Given the description of an element on the screen output the (x, y) to click on. 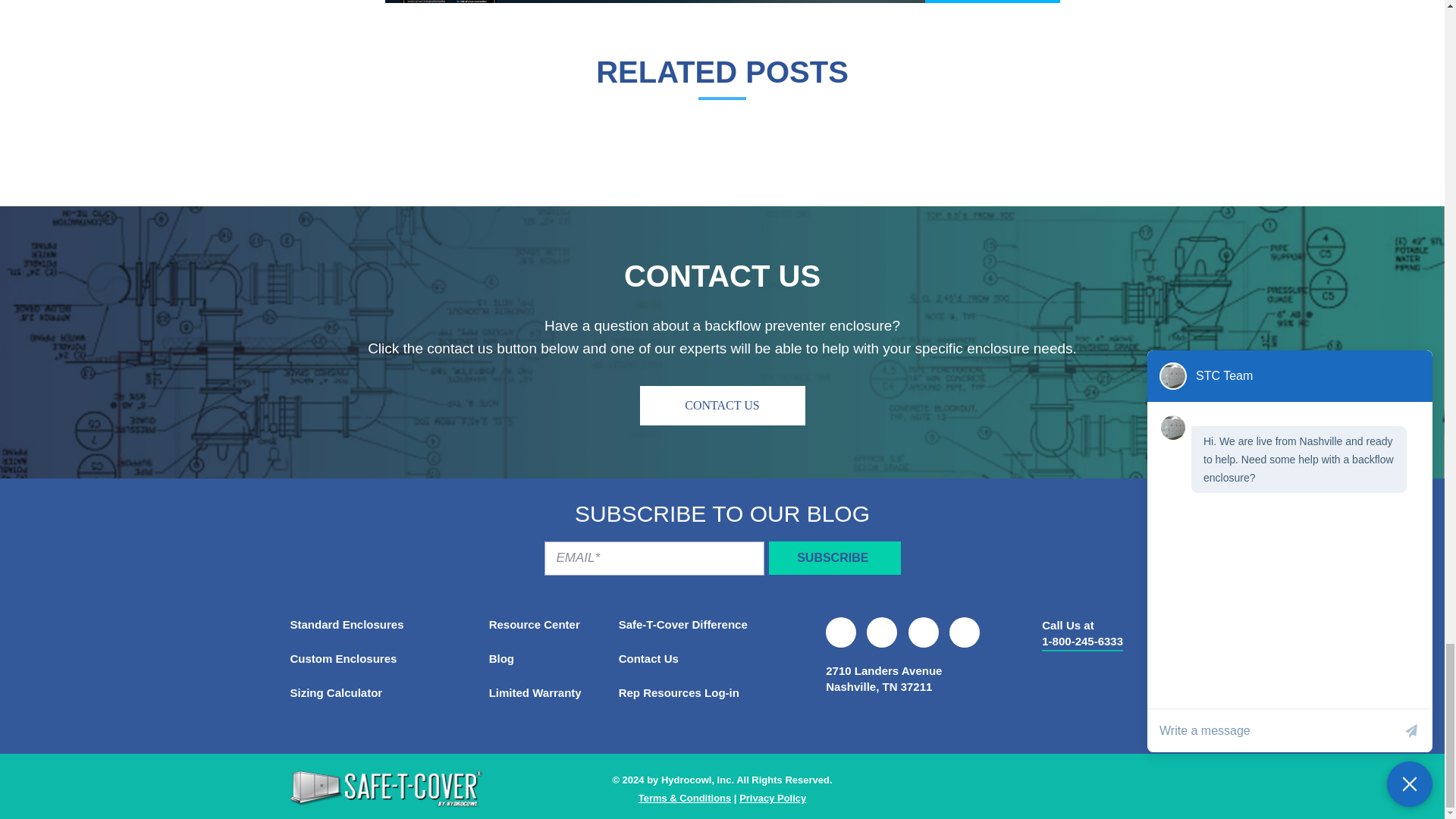
safe-t-cover-footer-Logo (385, 788)
Subscribe  (834, 557)
